Given the description of an element on the screen output the (x, y) to click on. 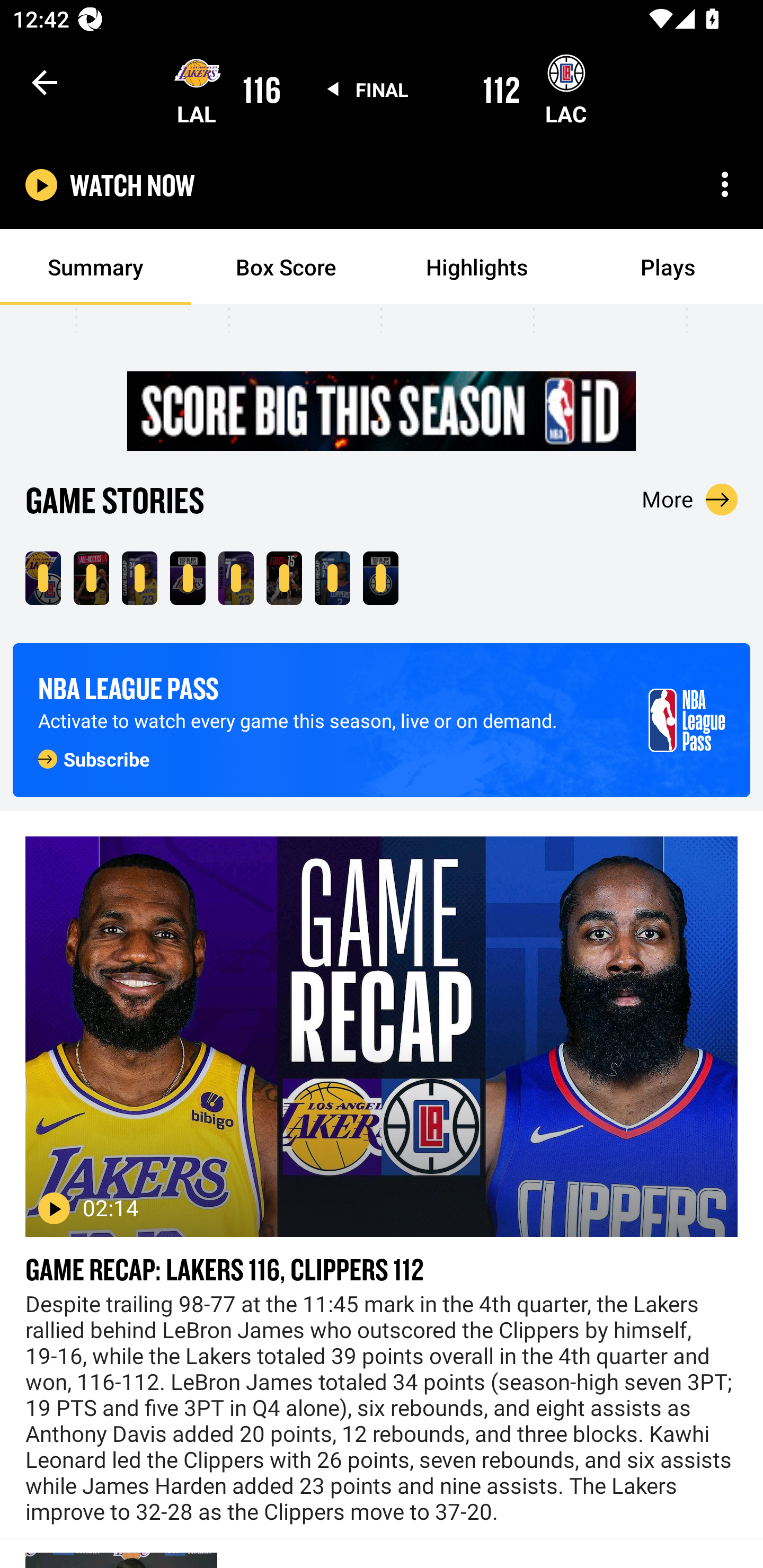
Navigate up (44, 82)
More options (724, 183)
WATCH NOW (132, 184)
Box Score (285, 266)
Highlights (476, 266)
Plays (667, 266)
More (689, 498)
NEW LAL 116, LAC 112 - Feb 28 (43, 578)
NEW LeBron Takes Over In The Battle Of LA (91, 578)
NEW Highlights From LeBron James's 34-Point Game (139, 578)
NEW LAL's Top Plays from LAL vs. LAC (187, 578)
First To 15: Feb. 28th NEW (284, 578)
Highlights From Kawhi Leonard's 26-Point Game NEW (332, 578)
LAC's Top Plays from LAL vs. LAC NEW (380, 578)
